Given the description of an element on the screen output the (x, y) to click on. 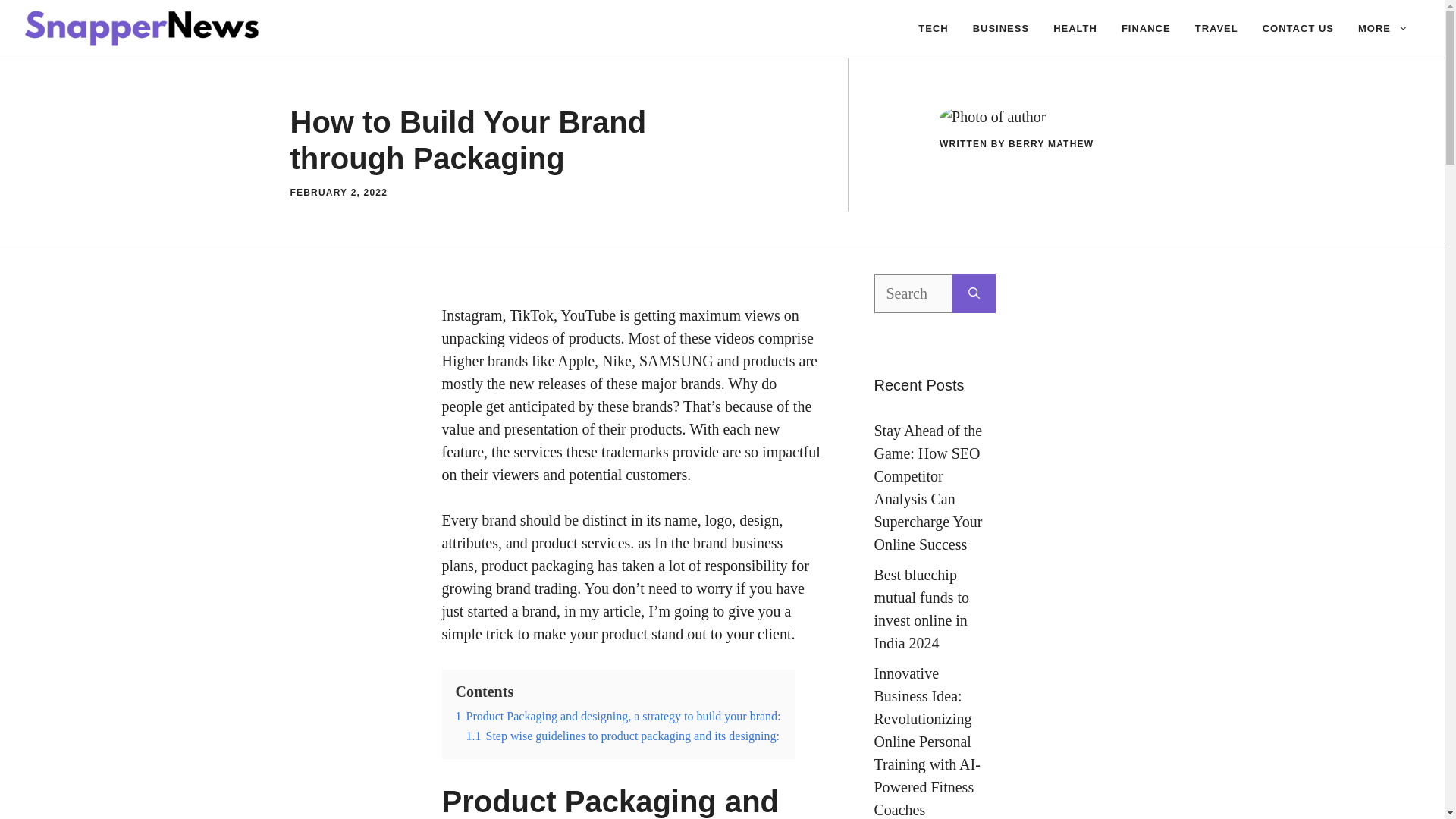
Search for: (912, 292)
CONTACT US (1297, 28)
HEALTH (1075, 28)
Best bluechip mutual funds to invest online in India 2024 (921, 608)
TECH (932, 28)
FINANCE (1145, 28)
TRAVEL (1216, 28)
MORE (1383, 28)
BUSINESS (1000, 28)
